Given the description of an element on the screen output the (x, y) to click on. 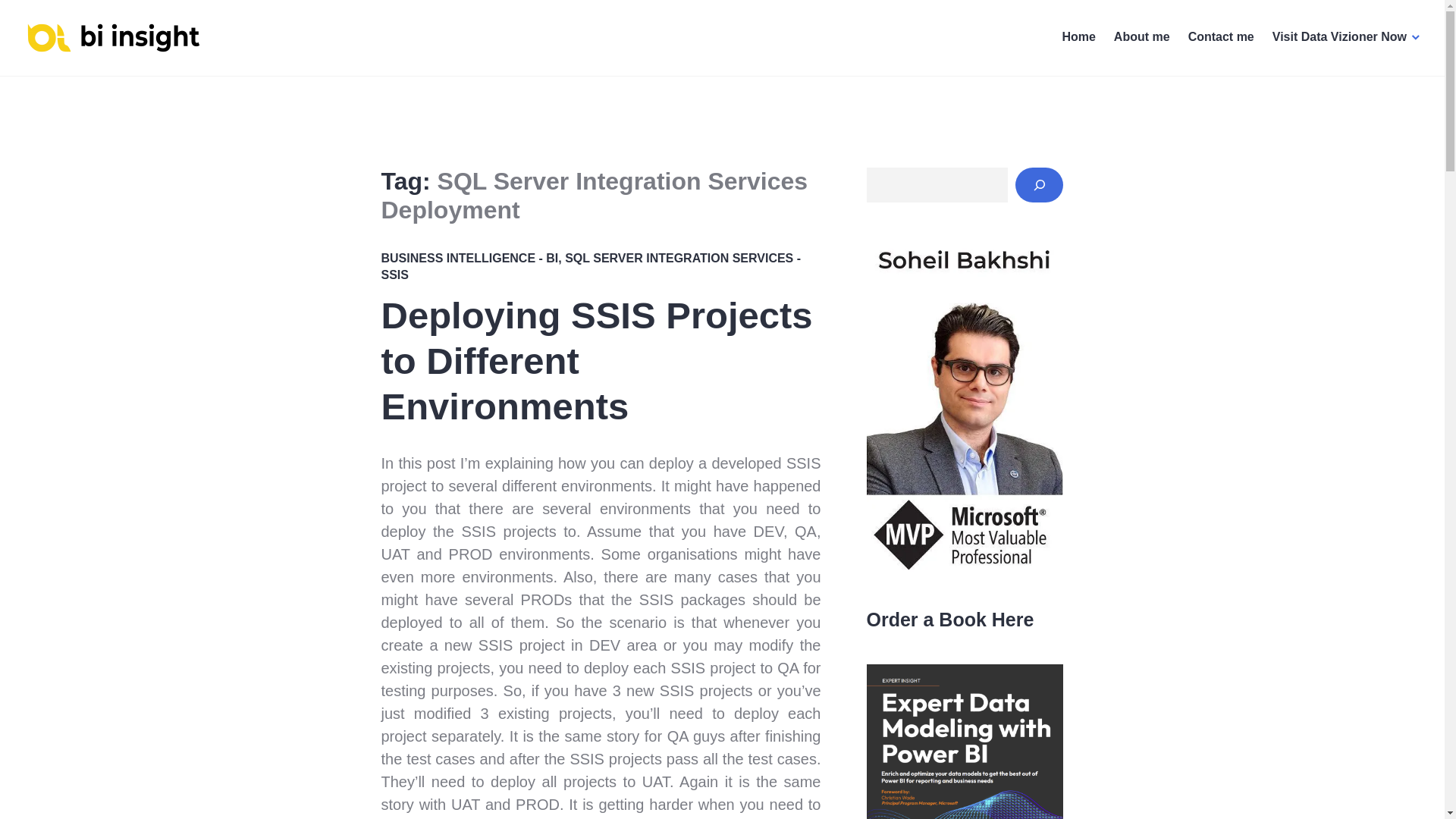
Visit Data Vizioner Now (1347, 37)
Contact me (1220, 37)
Deploying SSIS Projects to Different Environments (596, 360)
SQL SERVER INTEGRATION SERVICES - SSIS (590, 266)
Home (1077, 37)
BUSINESS INTELLIGENCE - BI (468, 257)
BI Insight (66, 74)
About me (1141, 37)
